Given the description of an element on the screen output the (x, y) to click on. 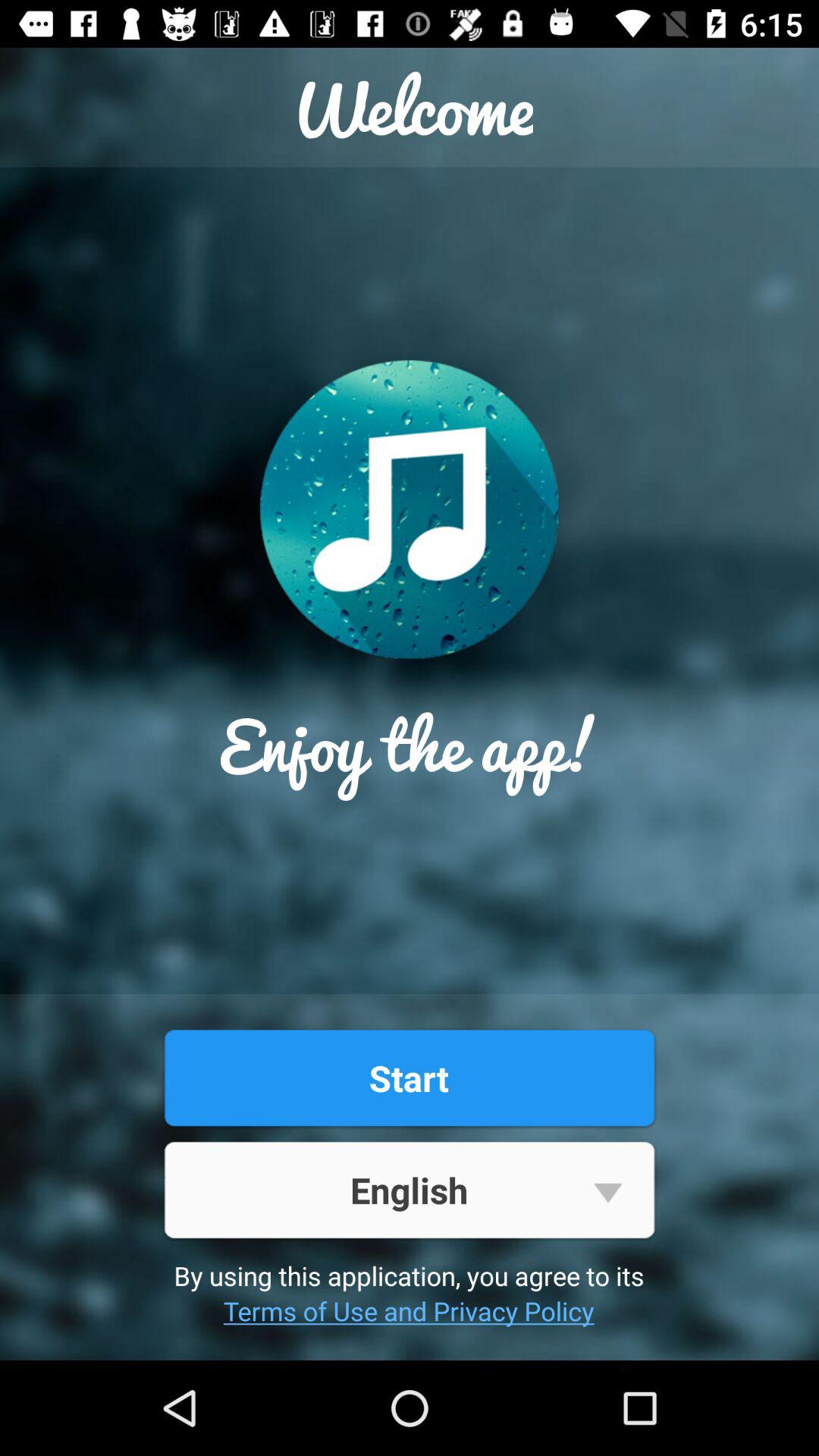
tap the item above by using this icon (409, 1190)
